Given the description of an element on the screen output the (x, y) to click on. 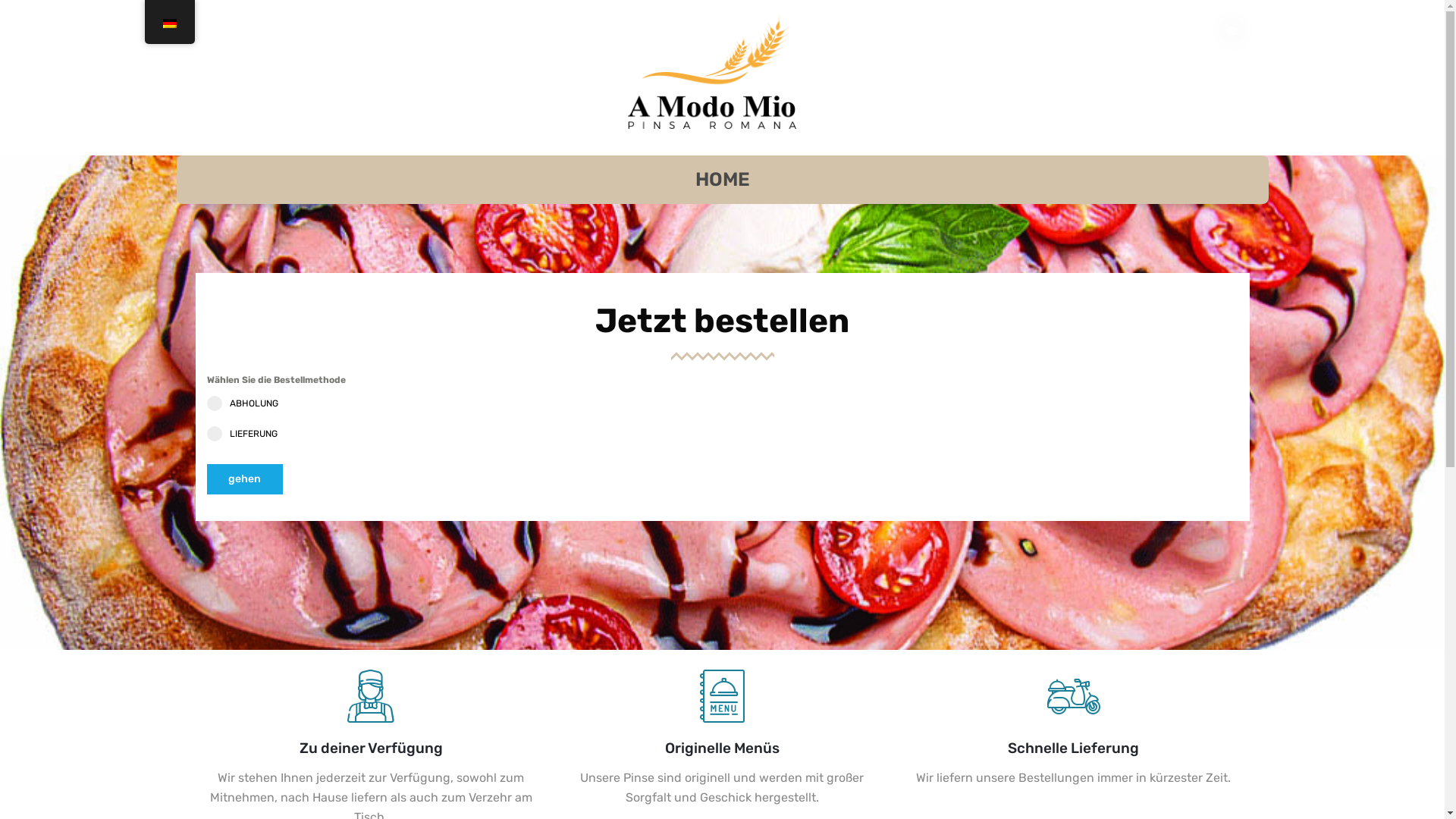
HOME Element type: text (721, 179)
A modo mio Element type: hover (691, 71)
gehen Element type: text (244, 479)
German Element type: hover (168, 23)
